Given the description of an element on the screen output the (x, y) to click on. 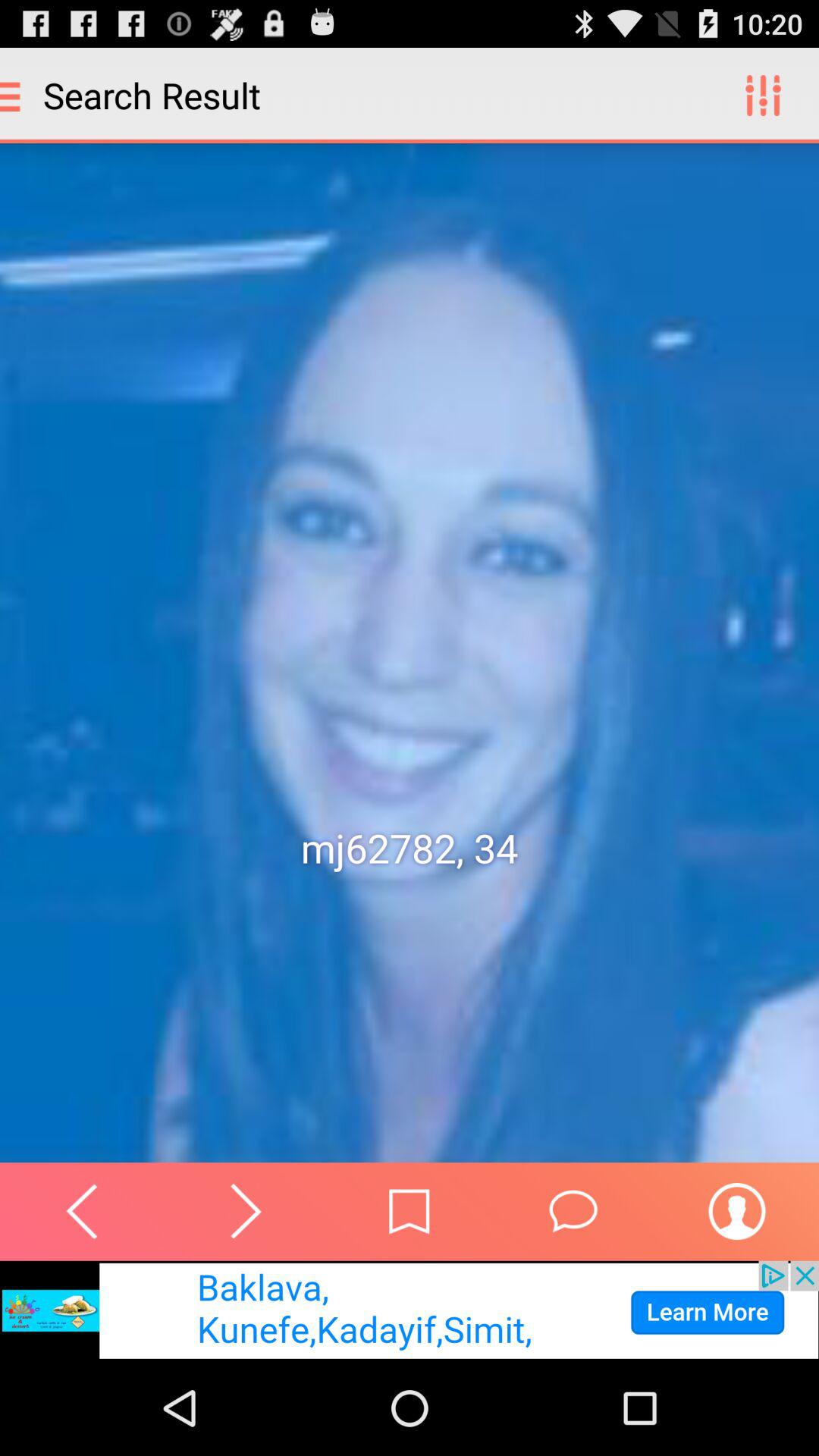
go to home (409, 1211)
